Given the description of an element on the screen output the (x, y) to click on. 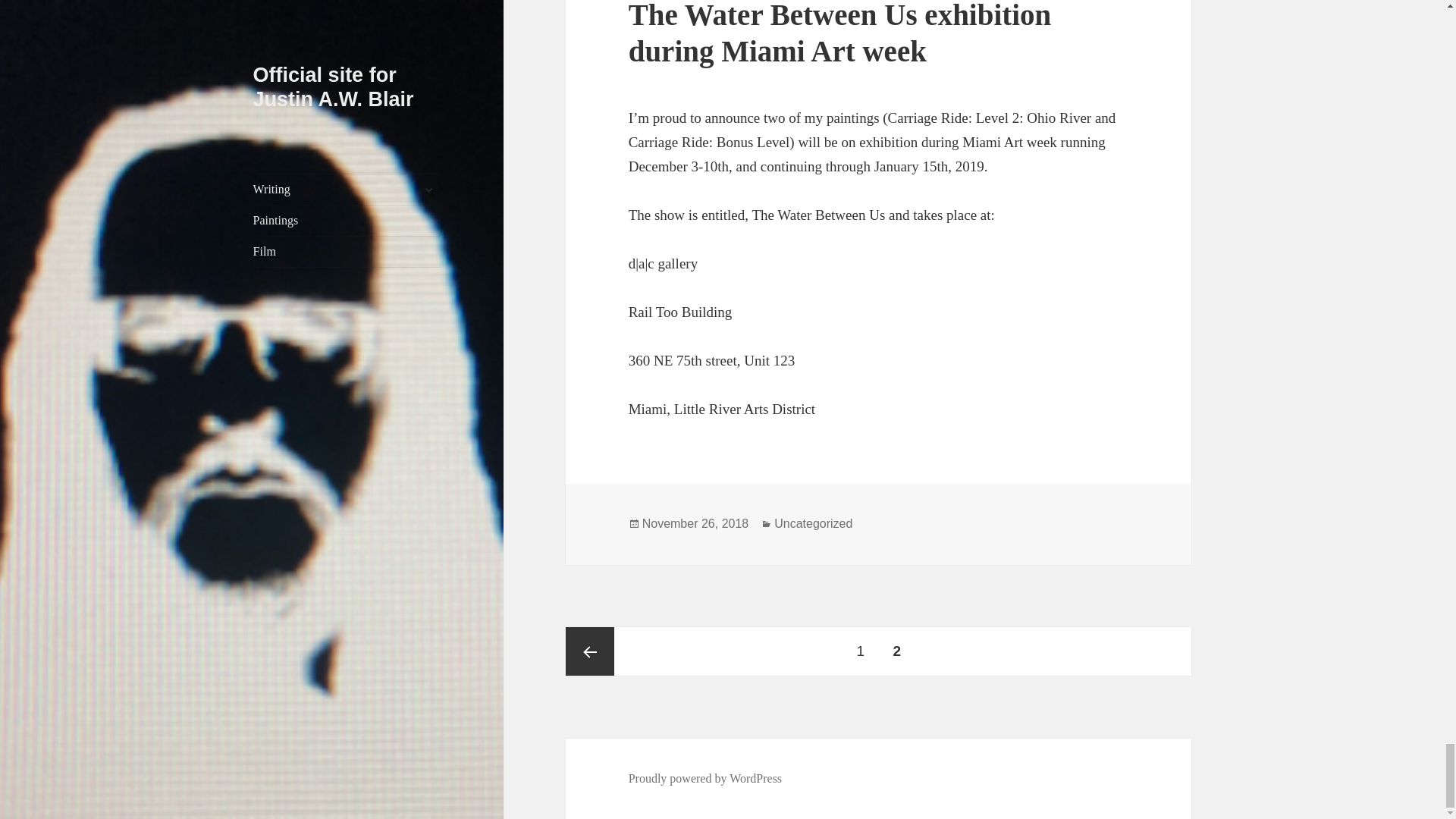
Uncategorized (812, 523)
November 26, 2018 (695, 523)
Previous page (590, 651)
Proudly powered by WordPress (704, 778)
The Water Between Us exhibition during Miami Art week (839, 33)
